Given the description of an element on the screen output the (x, y) to click on. 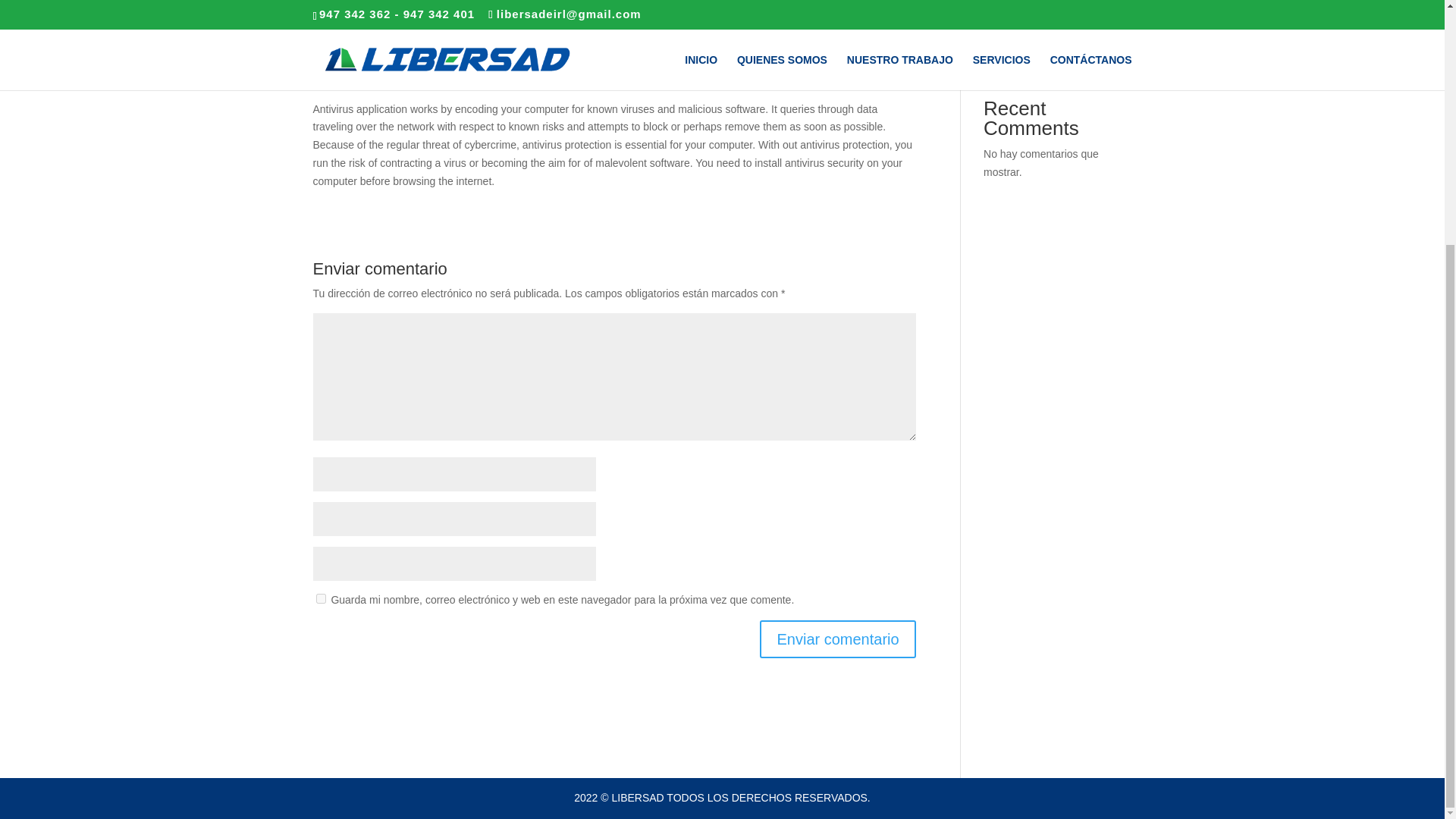
Enviar comentario (837, 638)
Enviar comentario (837, 638)
yes (319, 598)
Picking Virtual Deal Rooms (1048, 65)
